Given the description of an element on the screen output the (x, y) to click on. 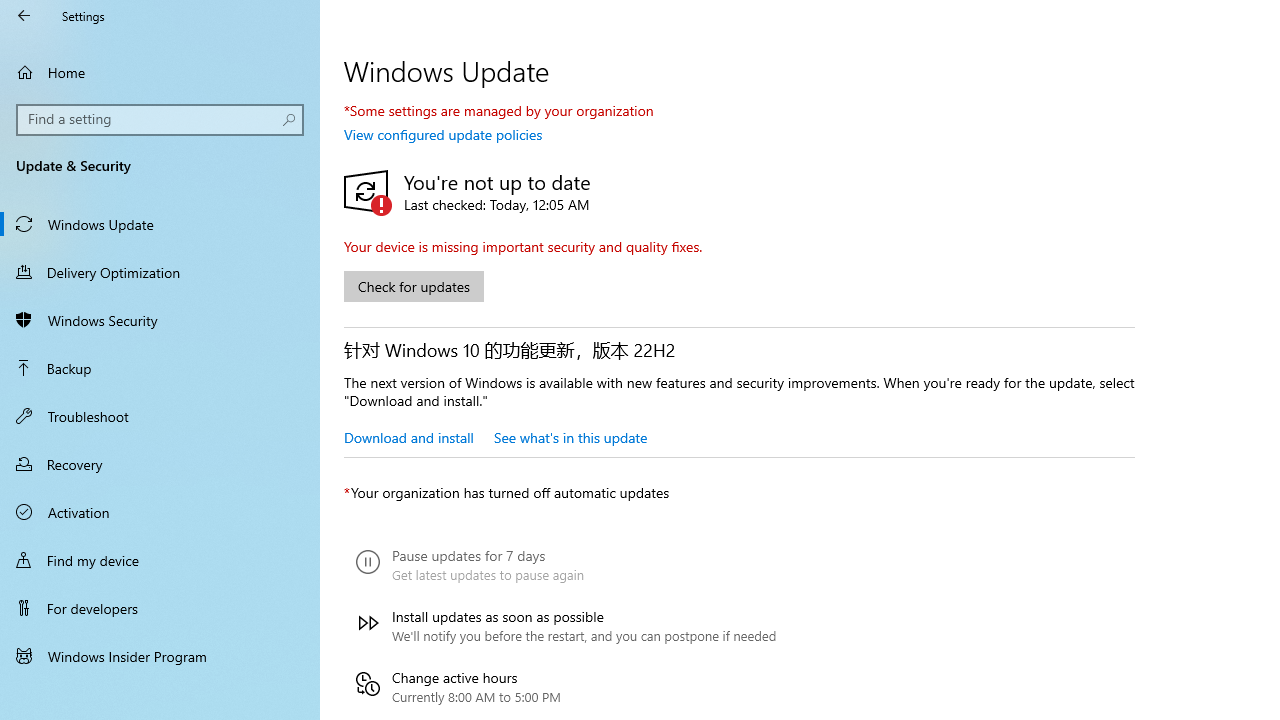
Install updates as soon as possible (566, 626)
Check for updates (413, 285)
Pause updates for 7 days (566, 565)
Recovery (160, 463)
Home (160, 71)
Activation (160, 511)
Windows Security (160, 319)
Back (24, 15)
View configured update policies (443, 134)
Download and install (408, 437)
Delivery Optimization (160, 271)
Search box, Find a setting (160, 119)
See what's in this update (570, 437)
Backup (160, 367)
Find my device (160, 559)
